Given the description of an element on the screen output the (x, y) to click on. 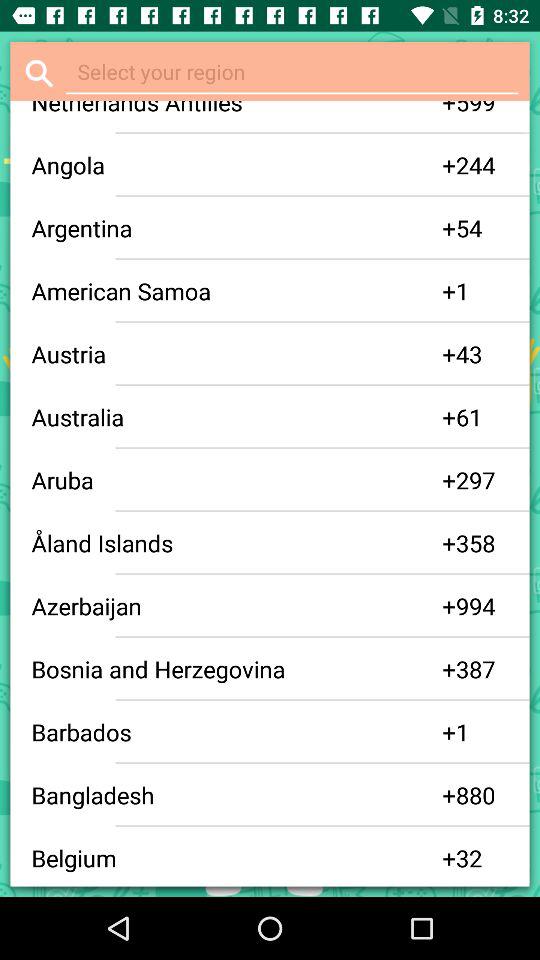
scroll until argentina app (236, 228)
